Given the description of an element on the screen output the (x, y) to click on. 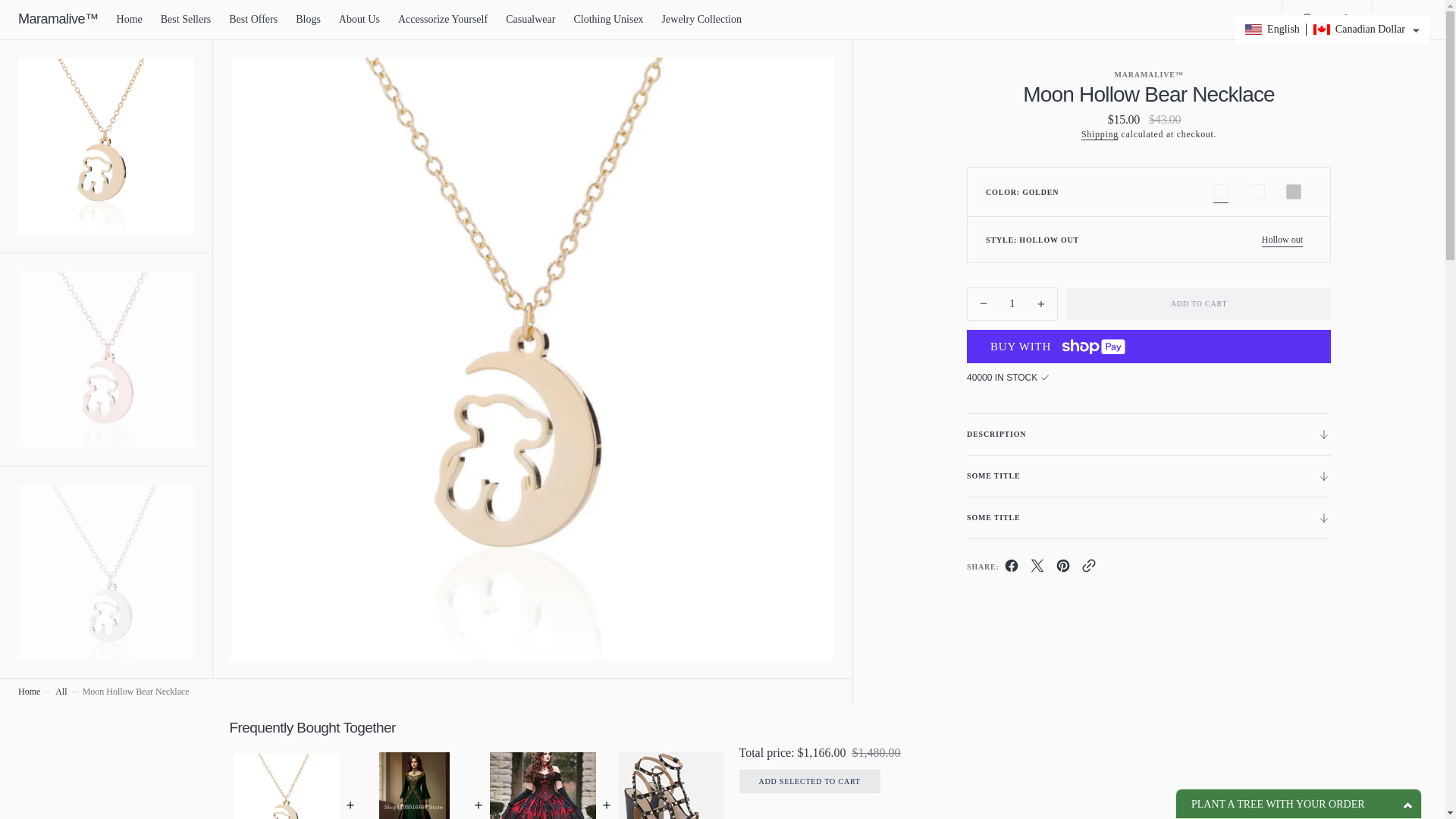
Jewelry Collection (701, 19)
Golden (1220, 191)
Clothing Unisex (608, 19)
Accessorize Yourself (442, 19)
Search (1306, 19)
Casualwear (529, 19)
Blogs (307, 19)
Silver (1293, 191)
Best Sellers (185, 19)
Home (129, 19)
About Us (359, 19)
